Given the description of an element on the screen output the (x, y) to click on. 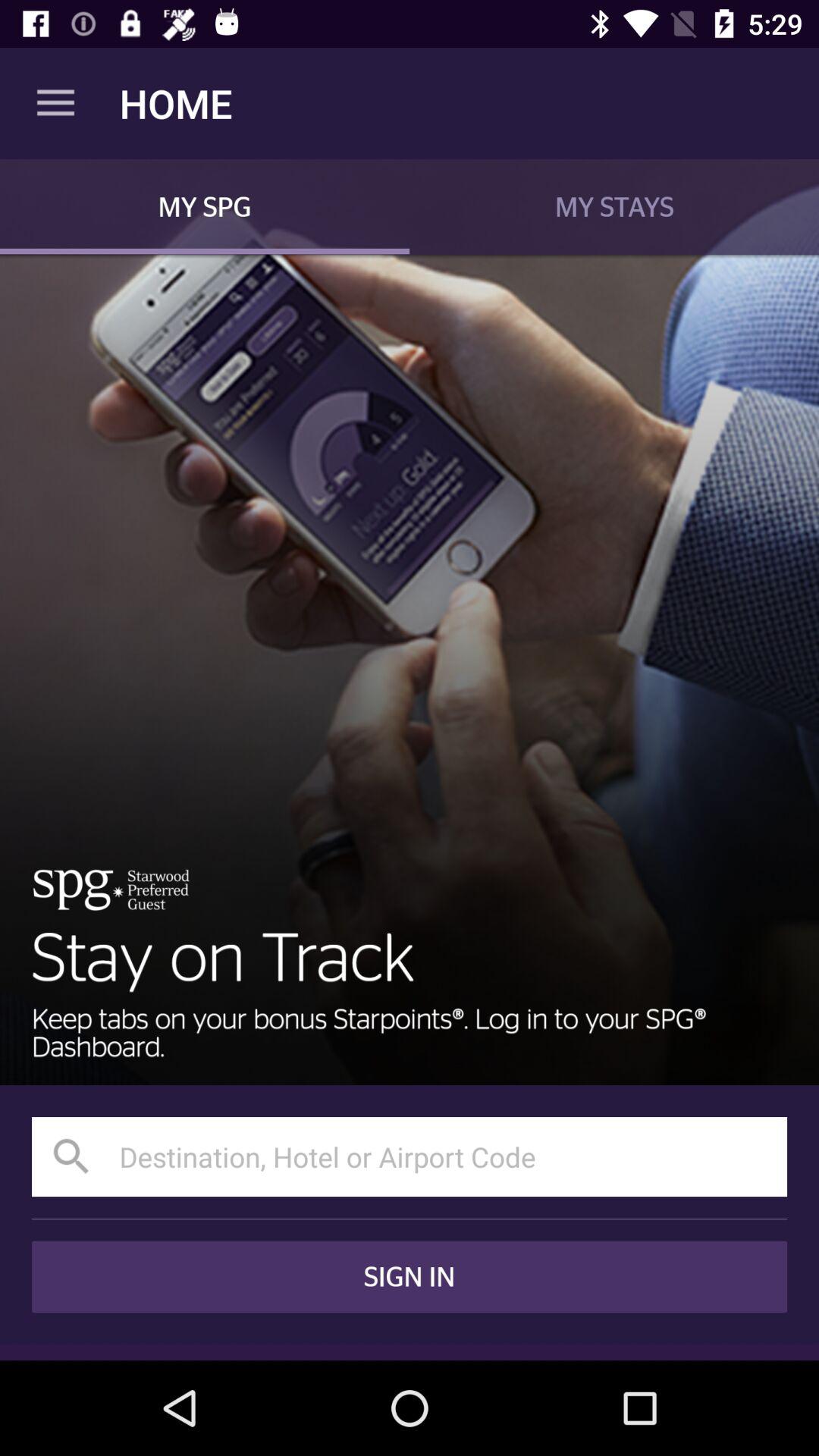
open the app to the left of the home icon (55, 103)
